Given the description of an element on the screen output the (x, y) to click on. 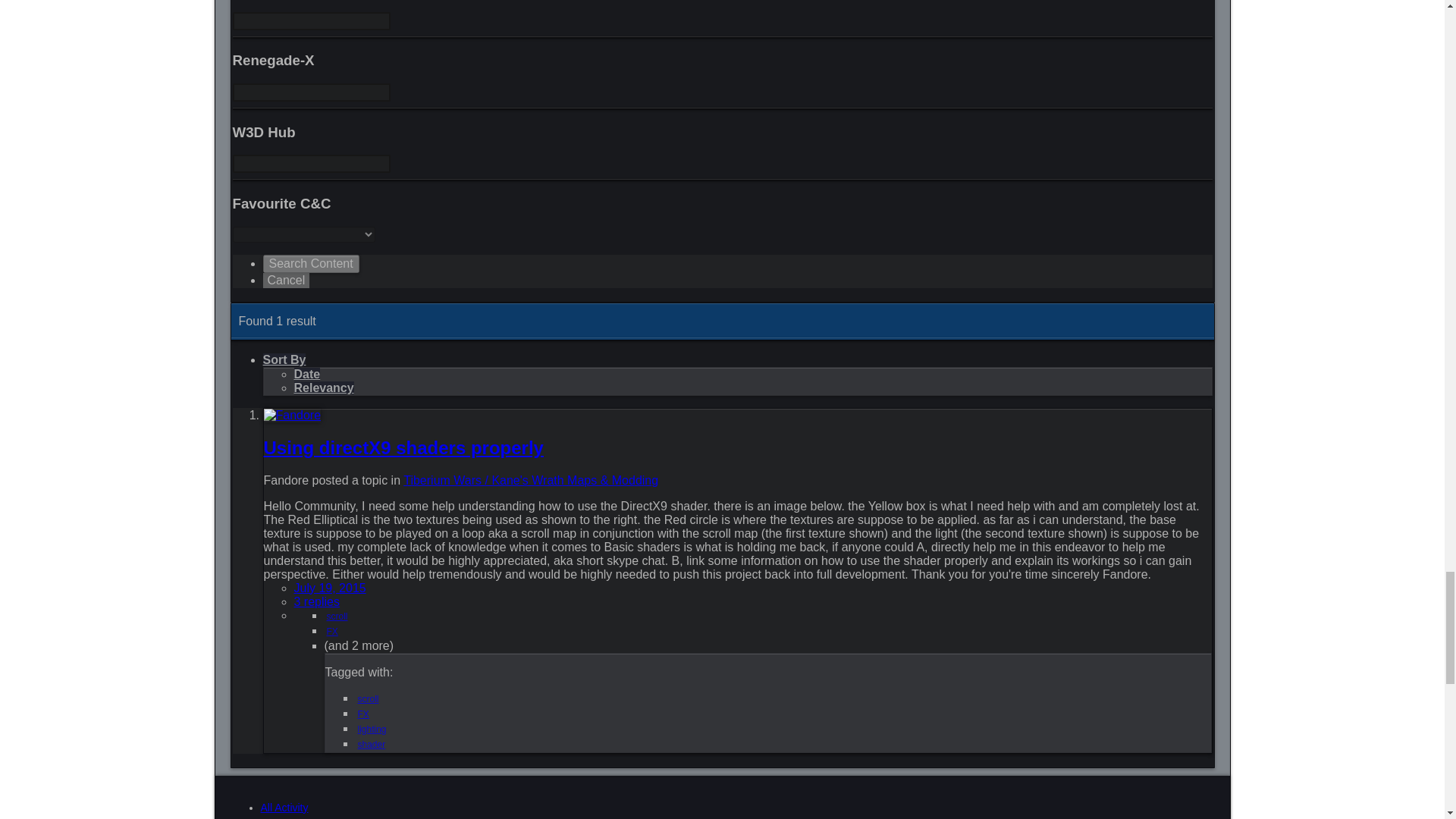
Find other content tagged with 'scroll' (368, 698)
Find other content tagged with 'FX' (363, 714)
Find other content tagged with 'FX' (331, 631)
Find other content tagged with 'shader' (371, 744)
Find other content tagged with 'lighting' (372, 728)
Find other content tagged with 'scroll' (336, 615)
Go to Fandore's profile (292, 414)
